Given the description of an element on the screen output the (x, y) to click on. 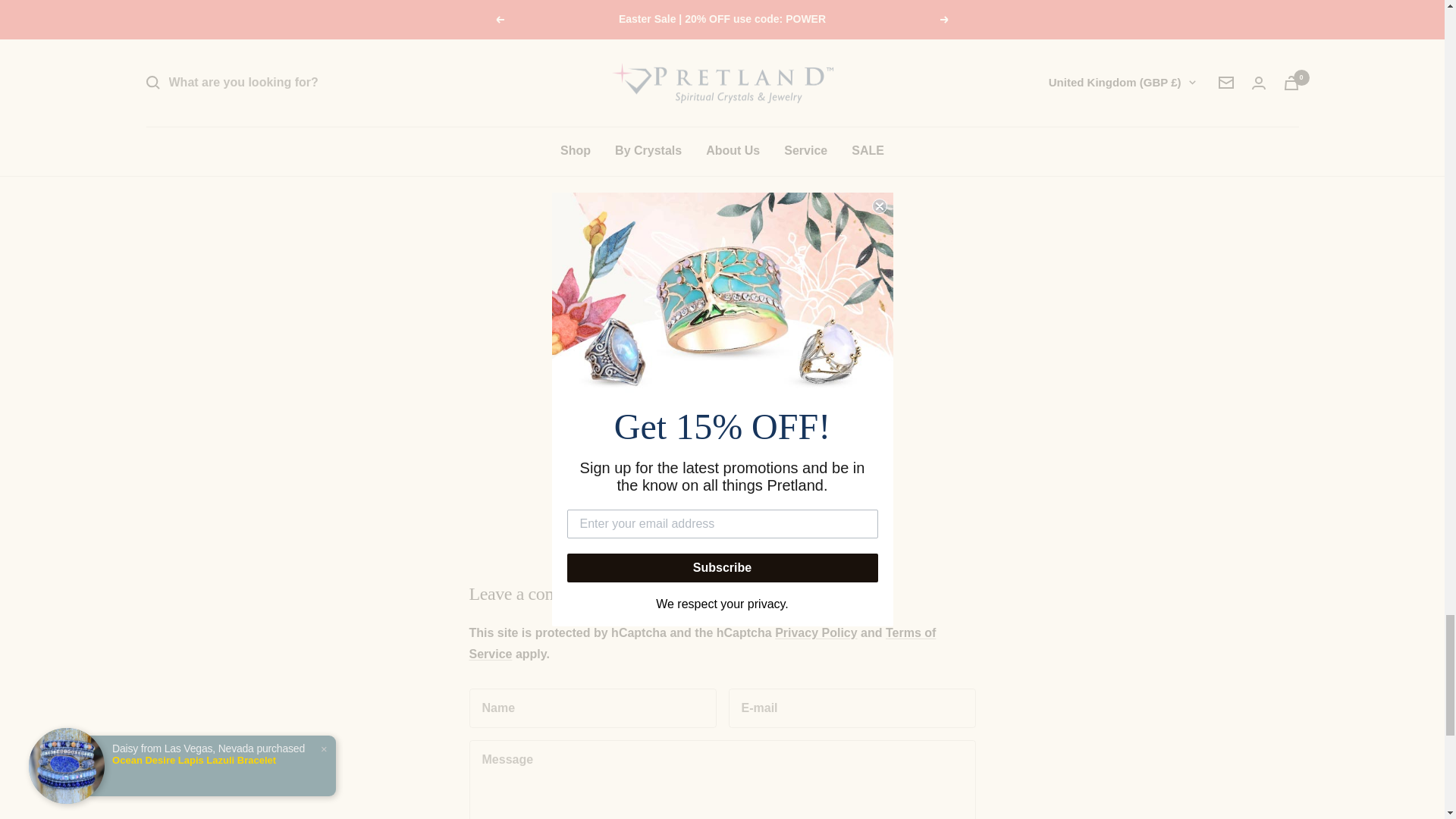
YouTube video player (721, 96)
